Given the description of an element on the screen output the (x, y) to click on. 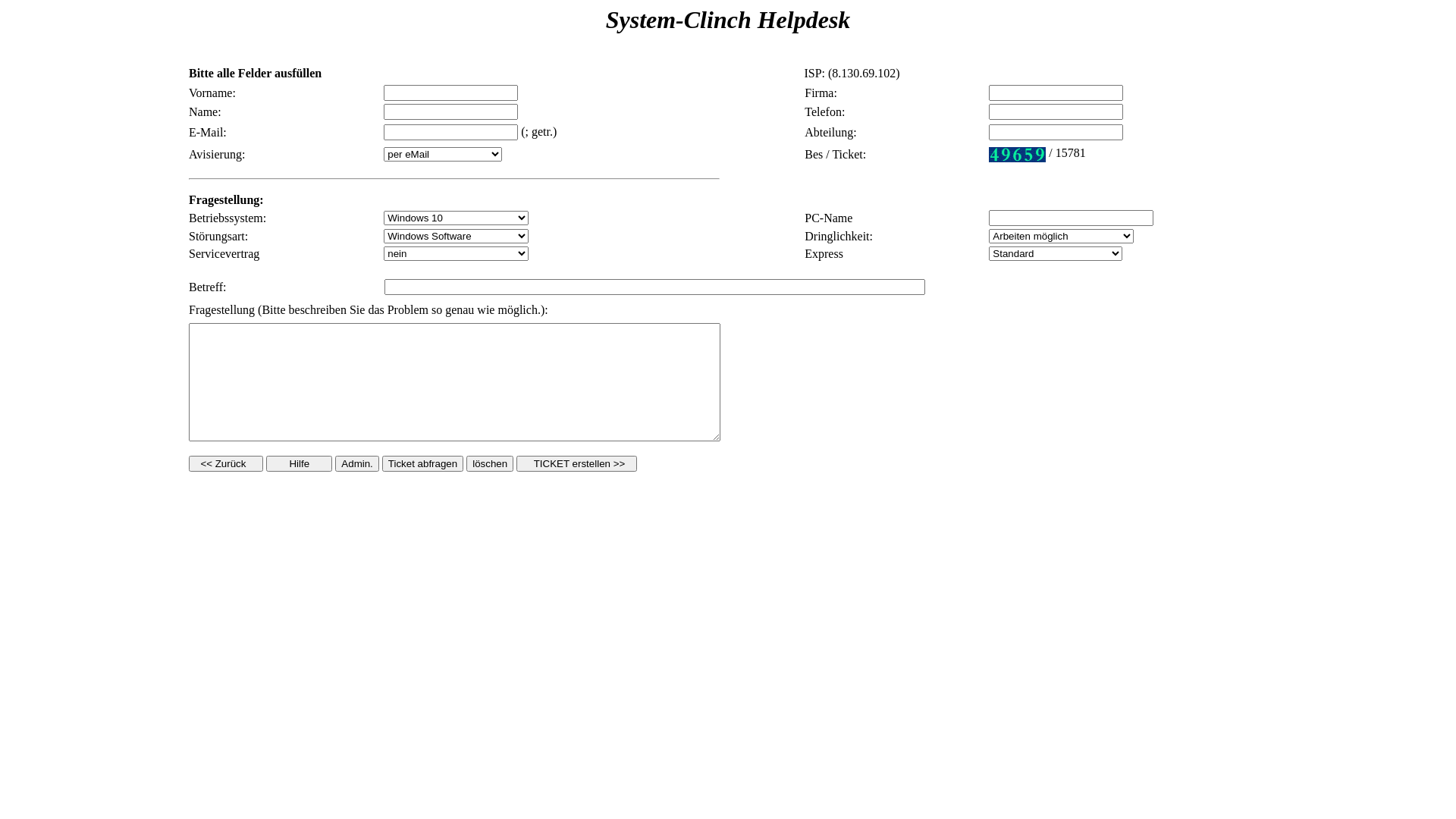
Admin. Element type: text (356, 462)
      Hilfe       Element type: text (299, 462)
Ticket abfragen Element type: text (422, 462)
    TICKET erstellen >>   Element type: text (576, 462)
